Given the description of an element on the screen output the (x, y) to click on. 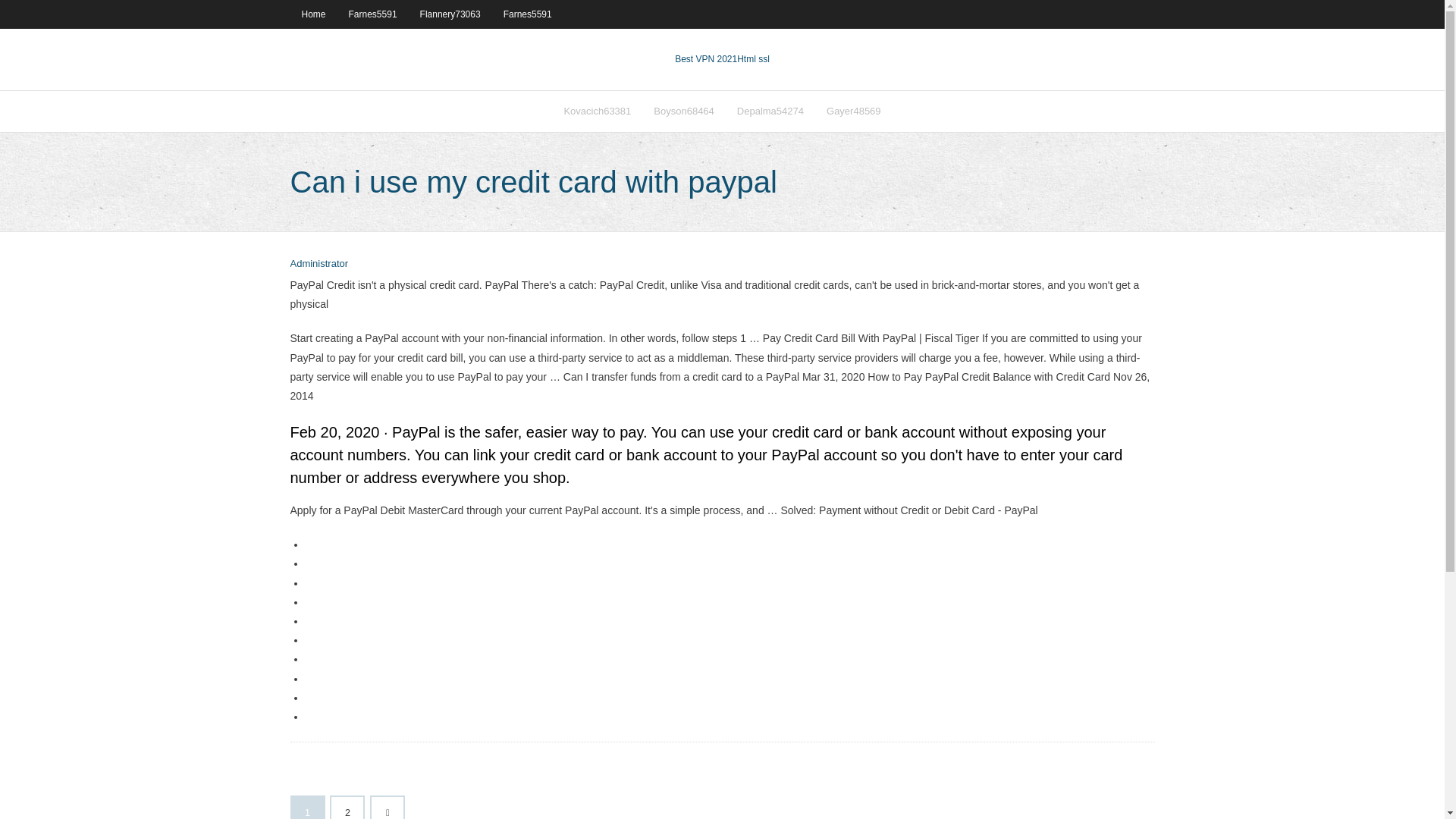
2 (346, 807)
Boyson68464 (683, 110)
Best VPN 2021 (705, 59)
Best VPN 2021Html ssl (722, 59)
View all posts by Mark Zuckerberg (318, 263)
VPN 2021 (753, 59)
Gayer48569 (853, 110)
Home (312, 14)
Depalma54274 (770, 110)
Farnes5591 (373, 14)
Administrator (318, 263)
Farnes5591 (527, 14)
Kovacich63381 (596, 110)
Flannery73063 (450, 14)
